Given the description of an element on the screen output the (x, y) to click on. 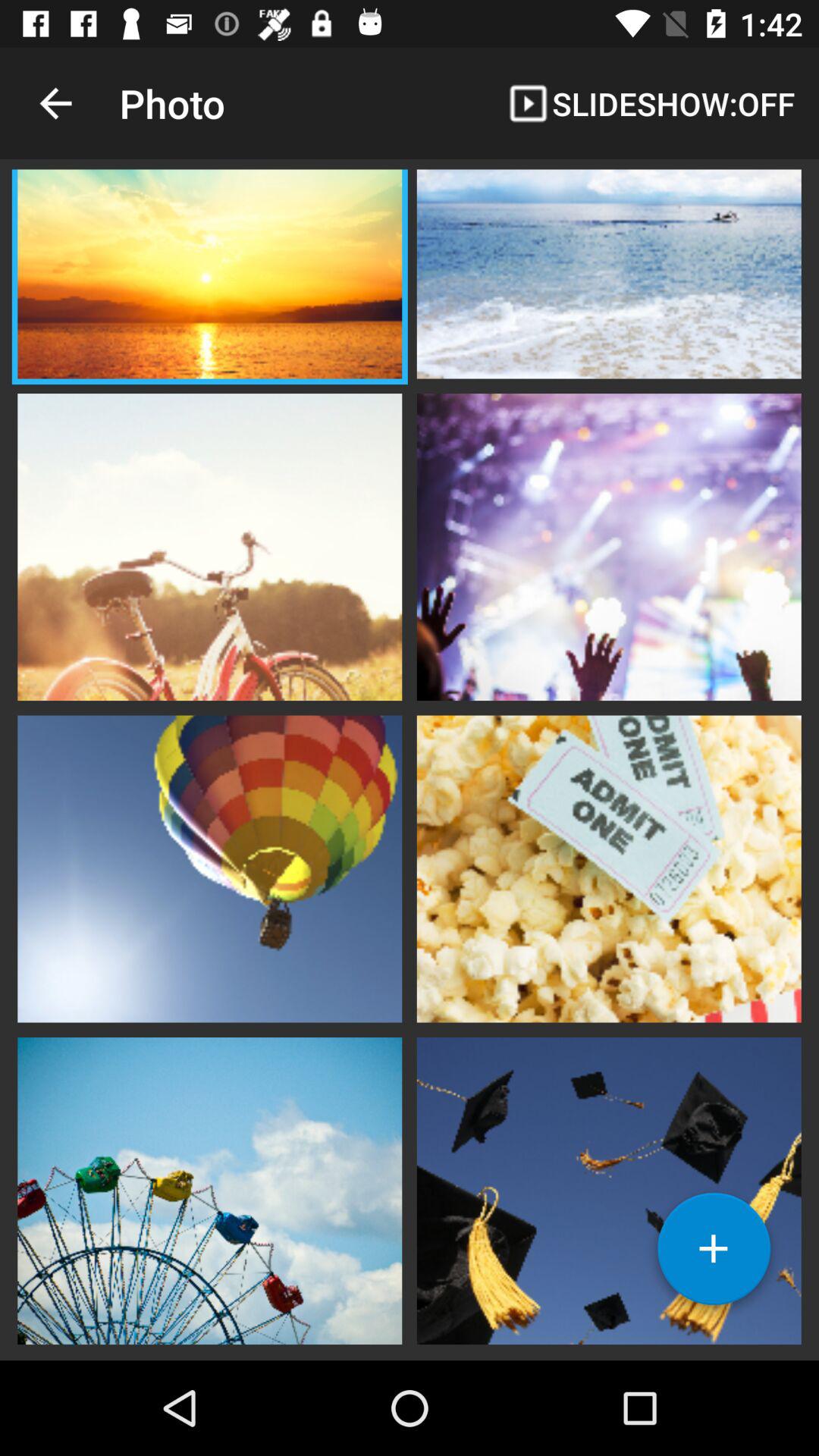
open an image (609, 867)
